Given the description of an element on the screen output the (x, y) to click on. 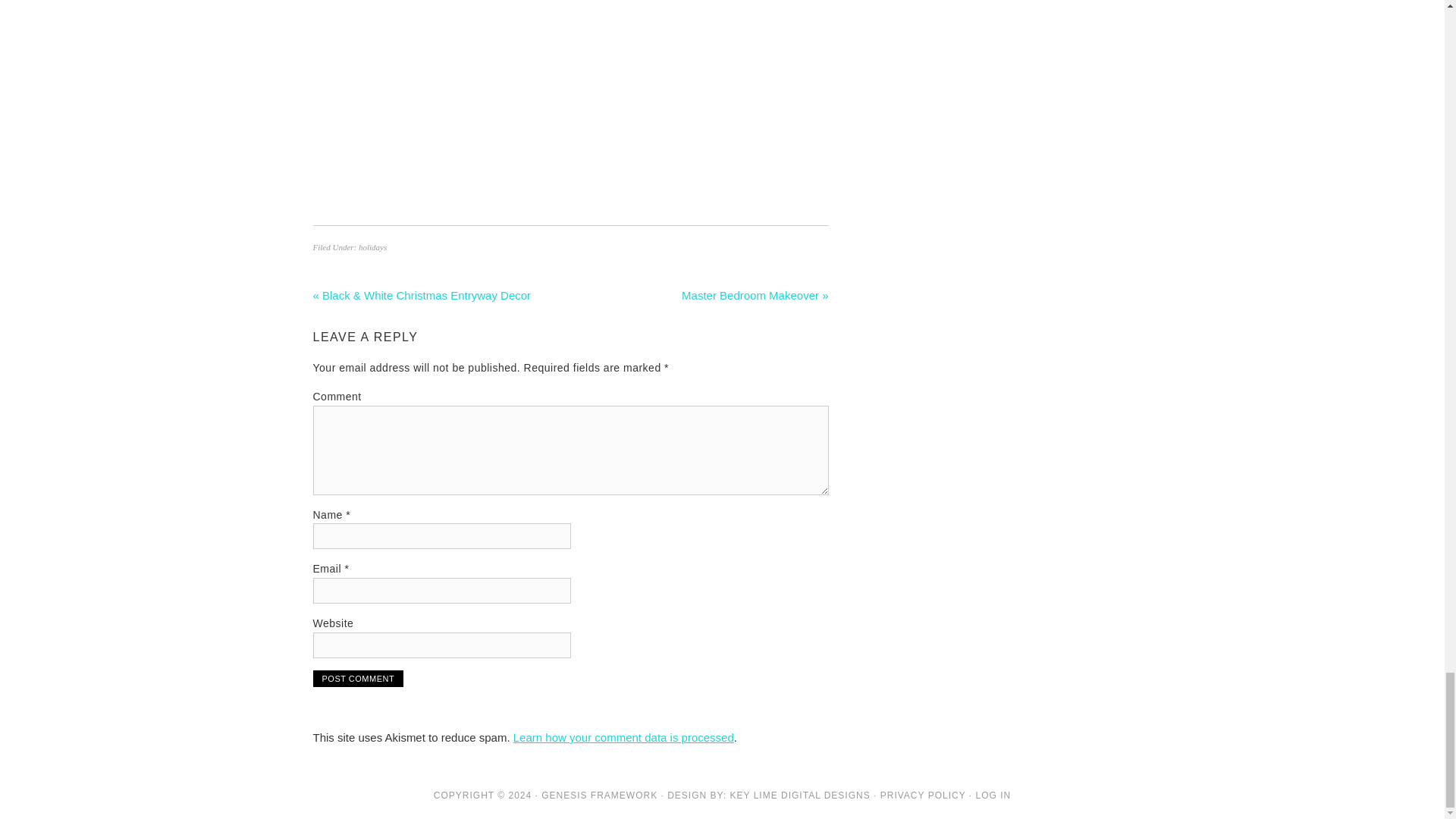
Post Comment (358, 678)
